Given the description of an element on the screen output the (x, y) to click on. 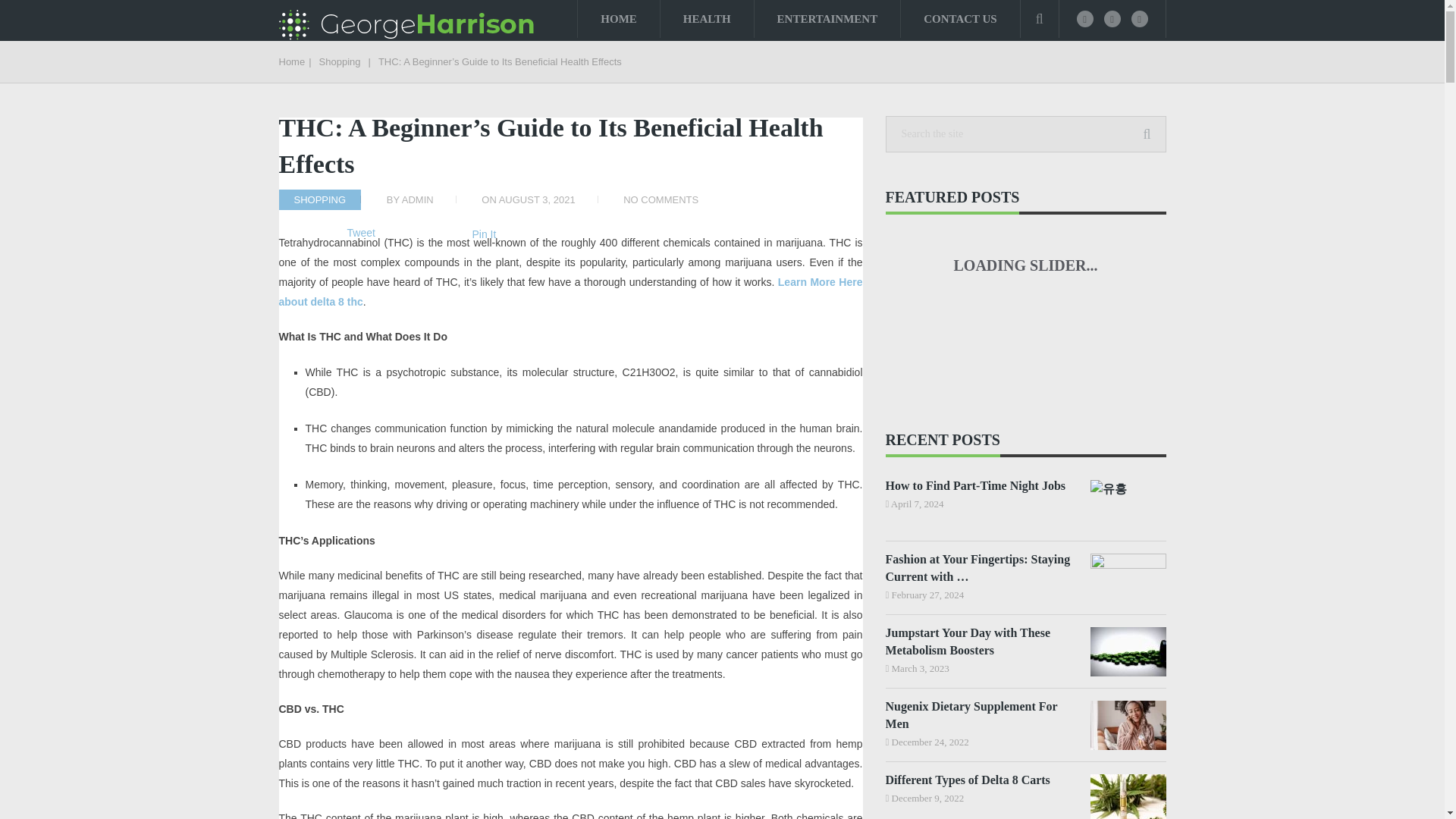
Tweet (361, 232)
Shopping (339, 61)
Learn More Here about delta 8 thc (571, 291)
Home (292, 61)
Pin It (483, 234)
CONTACT US (960, 18)
NO COMMENTS (660, 199)
HEALTH (707, 18)
HOME (618, 18)
ENTERTAINMENT (827, 18)
